Given the description of an element on the screen output the (x, y) to click on. 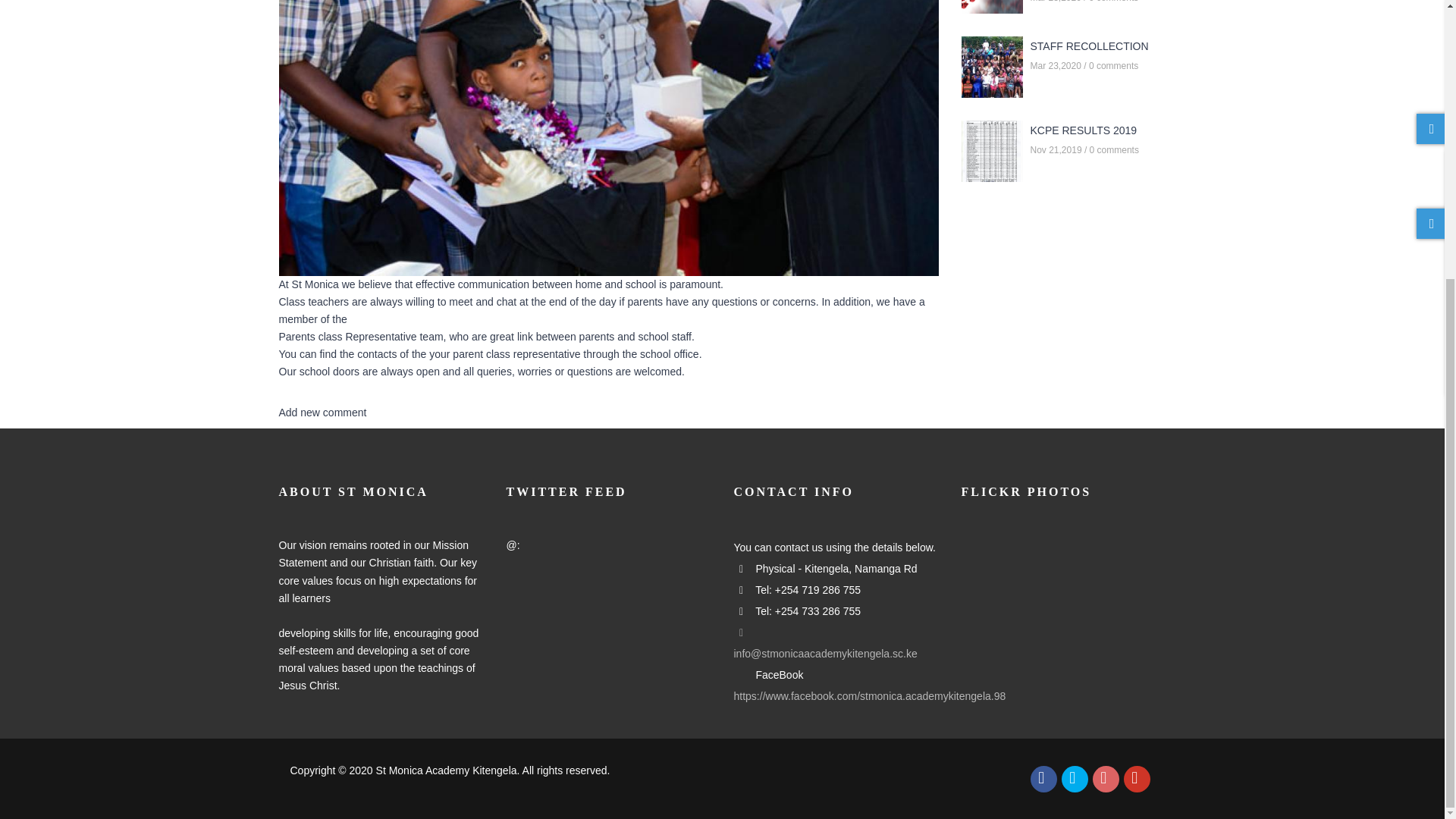
Share your thoughts and opinions related to this posting. (322, 412)
